Given the description of an element on the screen output the (x, y) to click on. 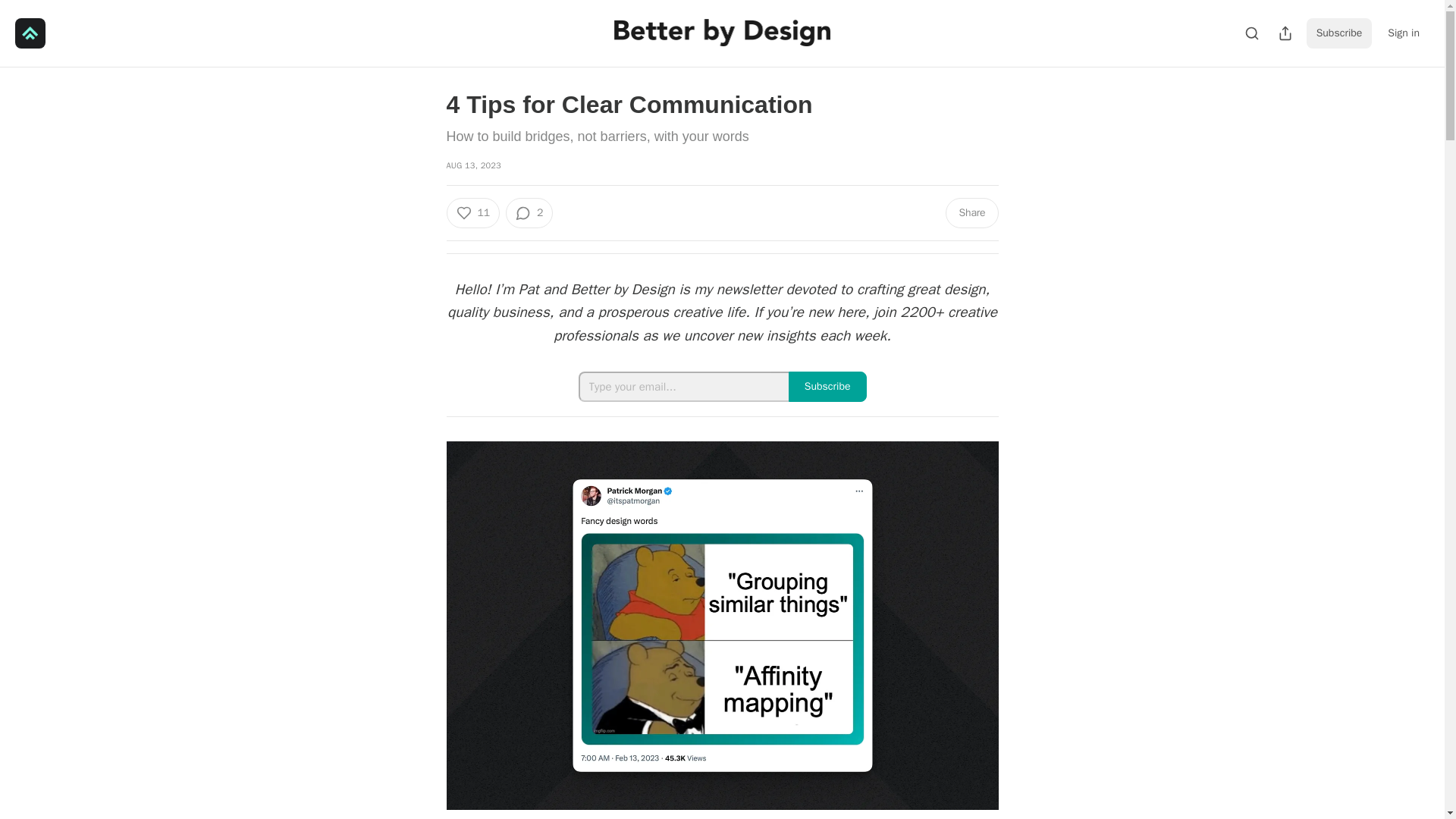
Share (970, 213)
Subscribe (827, 386)
Sign in (1403, 33)
11 (472, 213)
2 (529, 213)
Subscribe (1339, 33)
View on Twitter (792, 817)
